Given the description of an element on the screen output the (x, y) to click on. 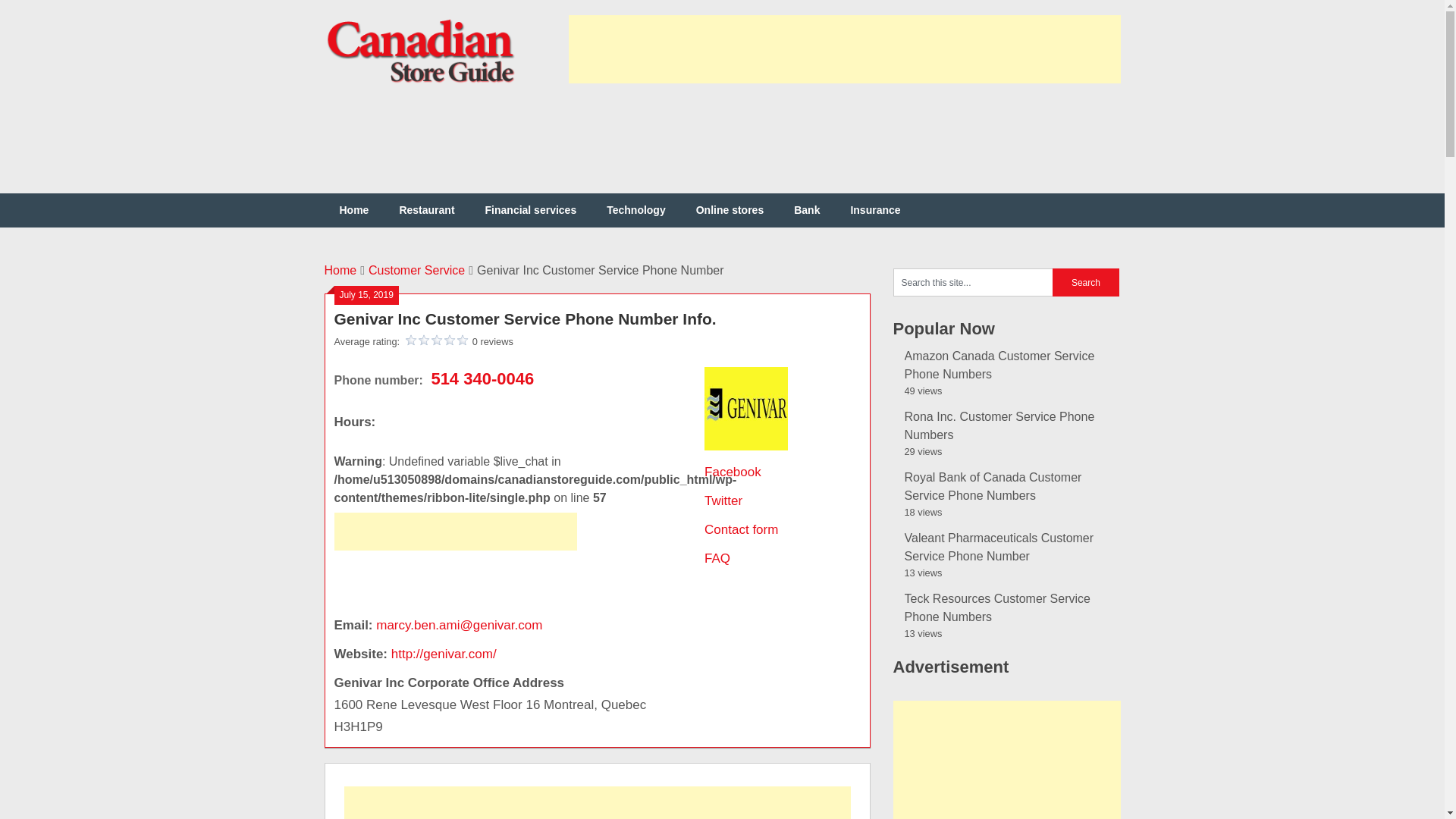
Financial services (531, 210)
Advertisement (454, 577)
Genivar Inc Customer Service Phone Number (524, 318)
Teck Resources Customer Service Phone Numbers (996, 607)
Royal Bank of Canada Customer Service Phone Numbers (992, 486)
Amazon Canada Customer Service Phone Numbers (999, 364)
Customer Service (416, 269)
Bank (806, 210)
Search (1085, 282)
Restaurant (426, 210)
Twitter (723, 500)
Search this site... (972, 282)
Technology (636, 210)
Home (354, 210)
Online stores (729, 210)
